Given the description of an element on the screen output the (x, y) to click on. 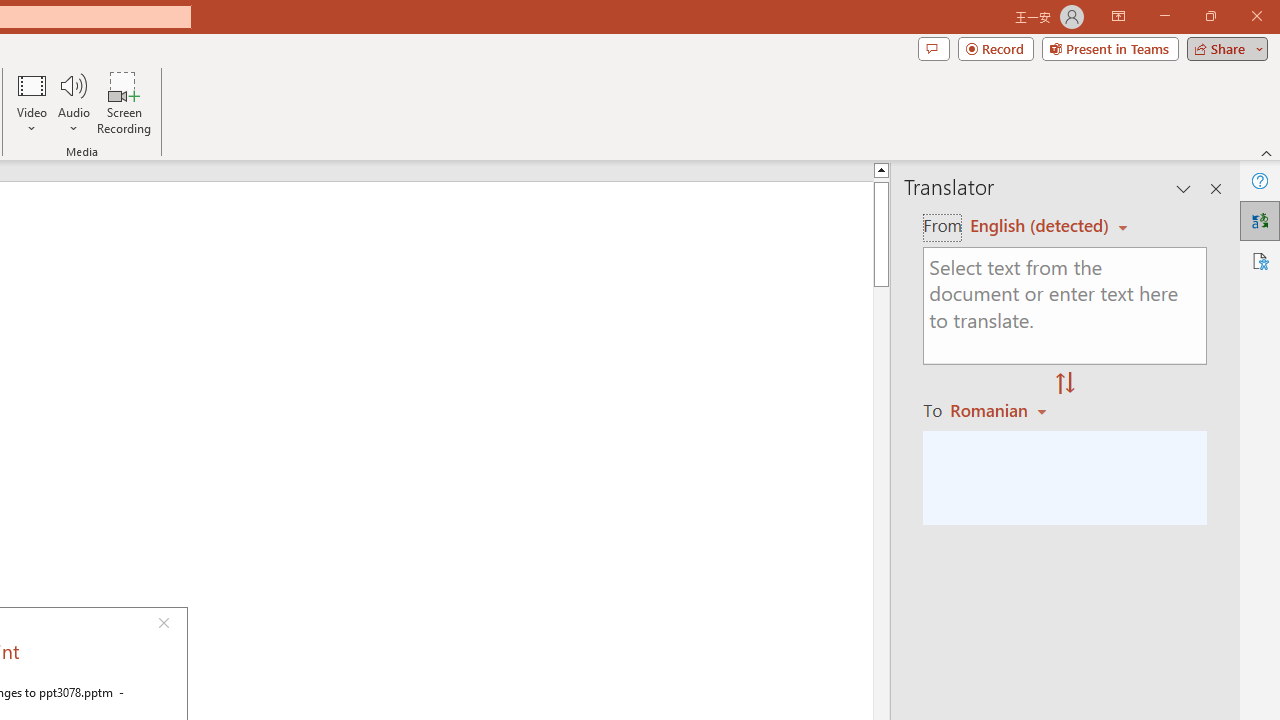
Video (31, 102)
Romanian (1001, 409)
Czech (detected) (1039, 225)
Screen Recording... (123, 102)
Audio (73, 102)
